Given the description of an element on the screen output the (x, y) to click on. 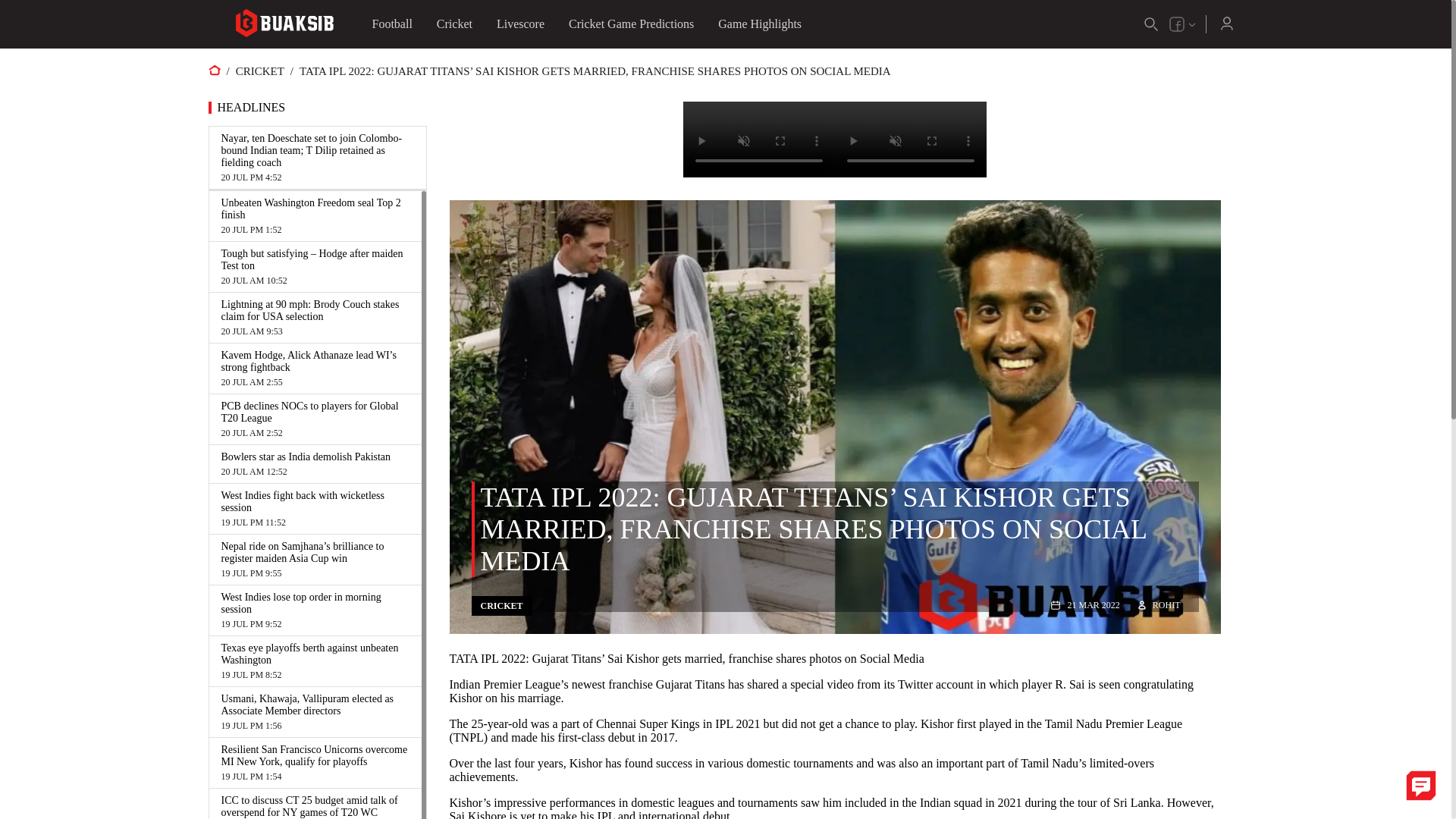
Livescore (315, 216)
Game Highlights (520, 24)
Cricket Game Predictions (315, 463)
Football (759, 24)
Cricket (631, 24)
